Given the description of an element on the screen output the (x, y) to click on. 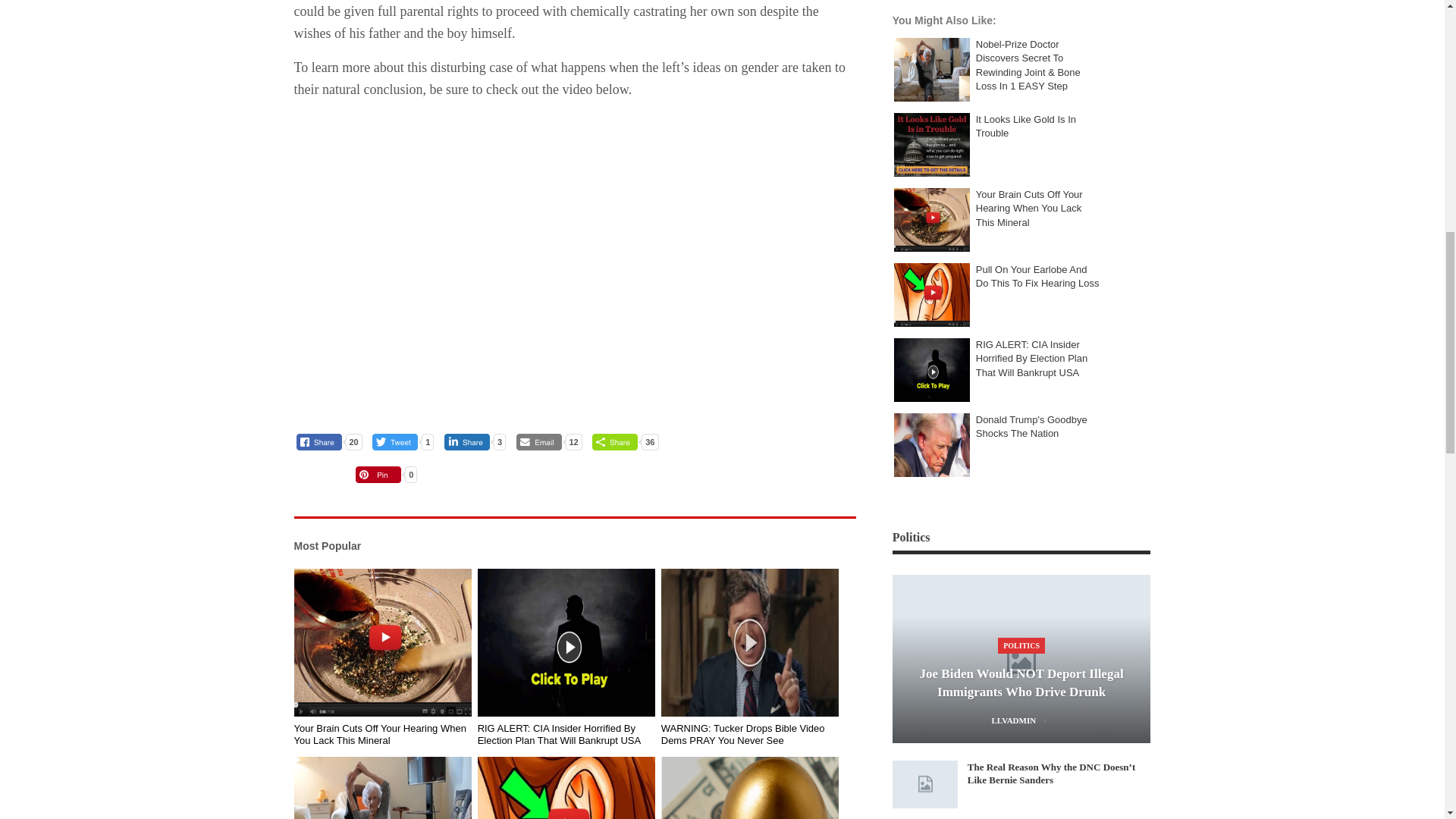
WARNING: Tucker Drops Bible Video Dems PRAY You Never See (750, 642)
Quadruple Your Nest-Egg With This Genius Financial Trick (750, 787)
Pull On Your Earlobe And Do This To Fix Hearing Loss (566, 787)
Your Brain Cuts Off Your Hearing When You Lack This Mineral (382, 642)
